Given the description of an element on the screen output the (x, y) to click on. 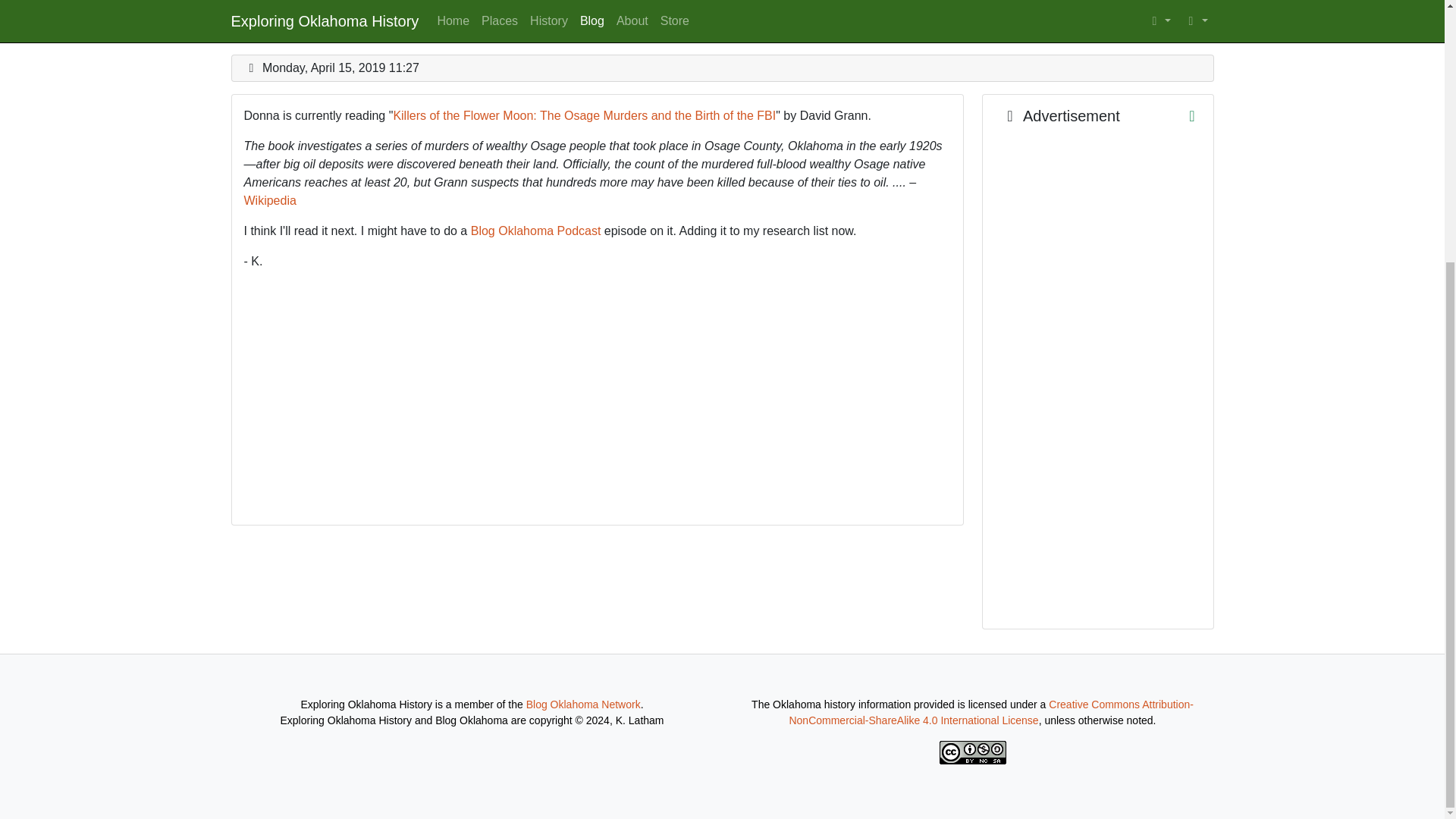
Advertisement (1098, 376)
Blog Oklahoma Podcast (535, 230)
Wikipedia (270, 200)
Bonus Amazon Link (1056, 115)
Blog Oklahoma Network (582, 704)
Advertisement (1056, 115)
